Given the description of an element on the screen output the (x, y) to click on. 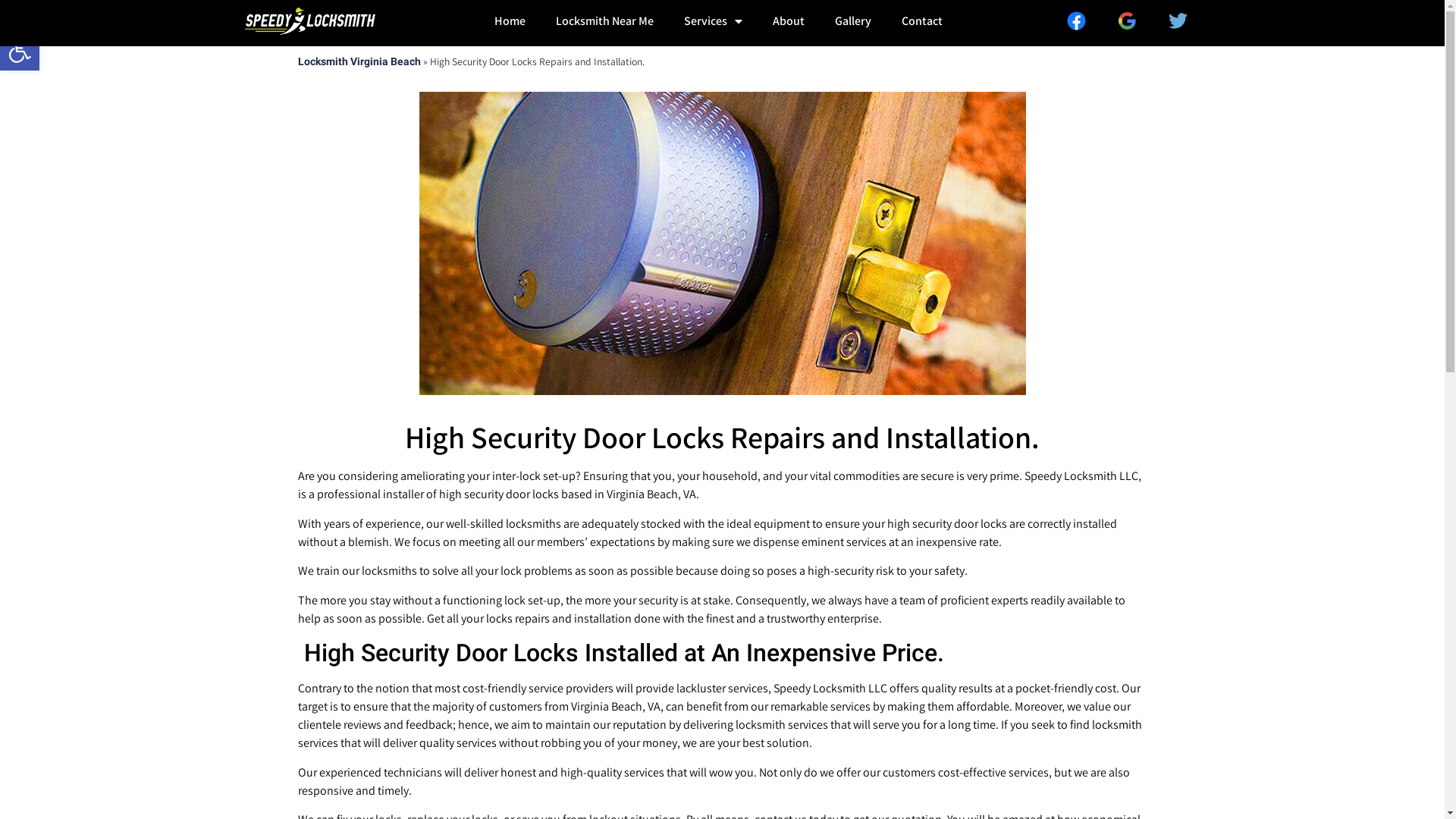
Open toolbar
Accessibility Tools Element type: text (19, 50)
Services Element type: text (712, 20)
Locksmith Near Me Element type: text (604, 20)
Home Element type: text (509, 20)
About Element type: text (788, 20)
Contact Element type: text (921, 20)
Gallery Element type: text (852, 20)
Locksmith Virginia Beach Element type: text (358, 61)
